Given the description of an element on the screen output the (x, y) to click on. 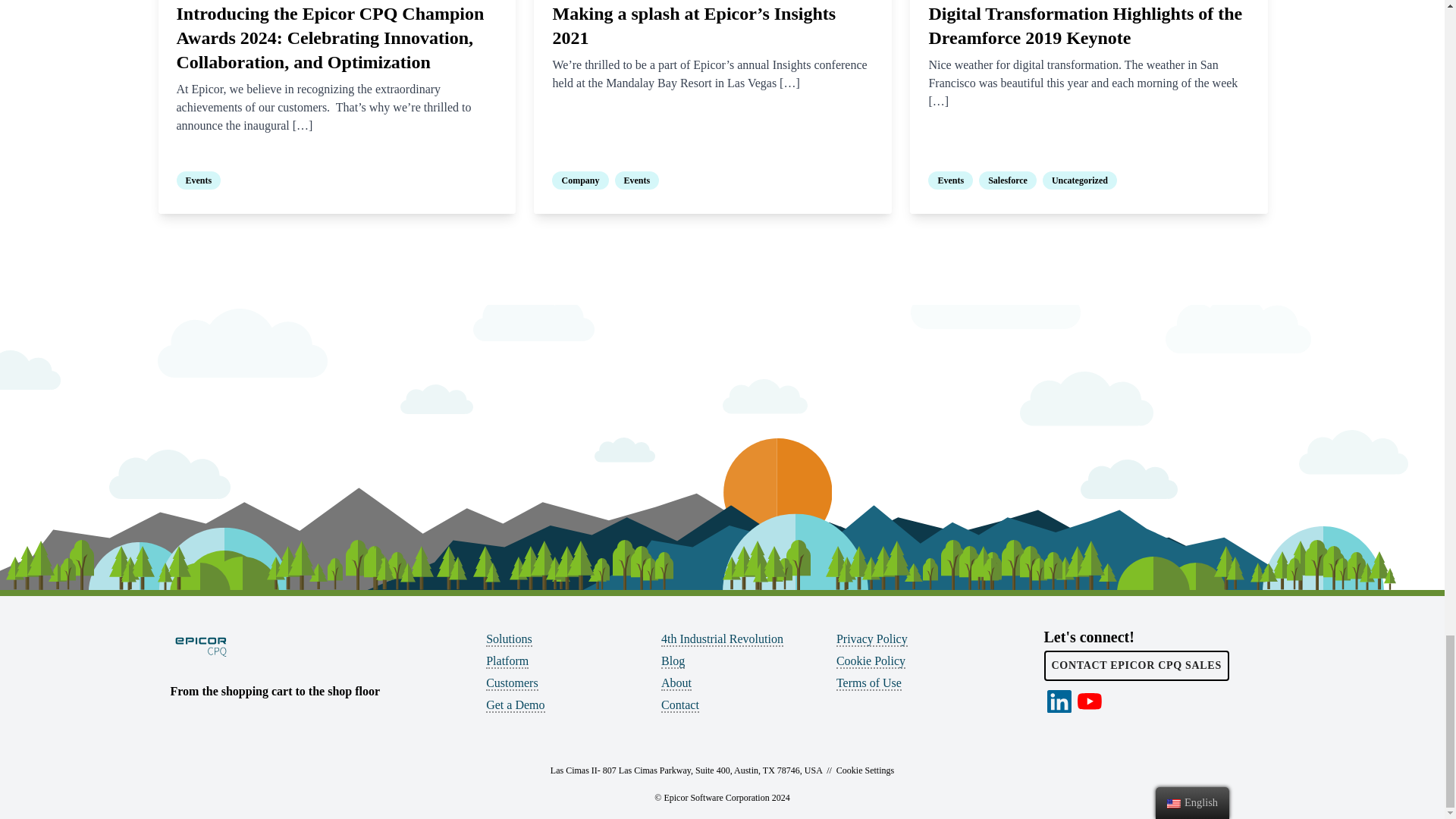
Customers (511, 683)
Solutions (508, 639)
Platform (507, 661)
